Given the description of an element on the screen output the (x, y) to click on. 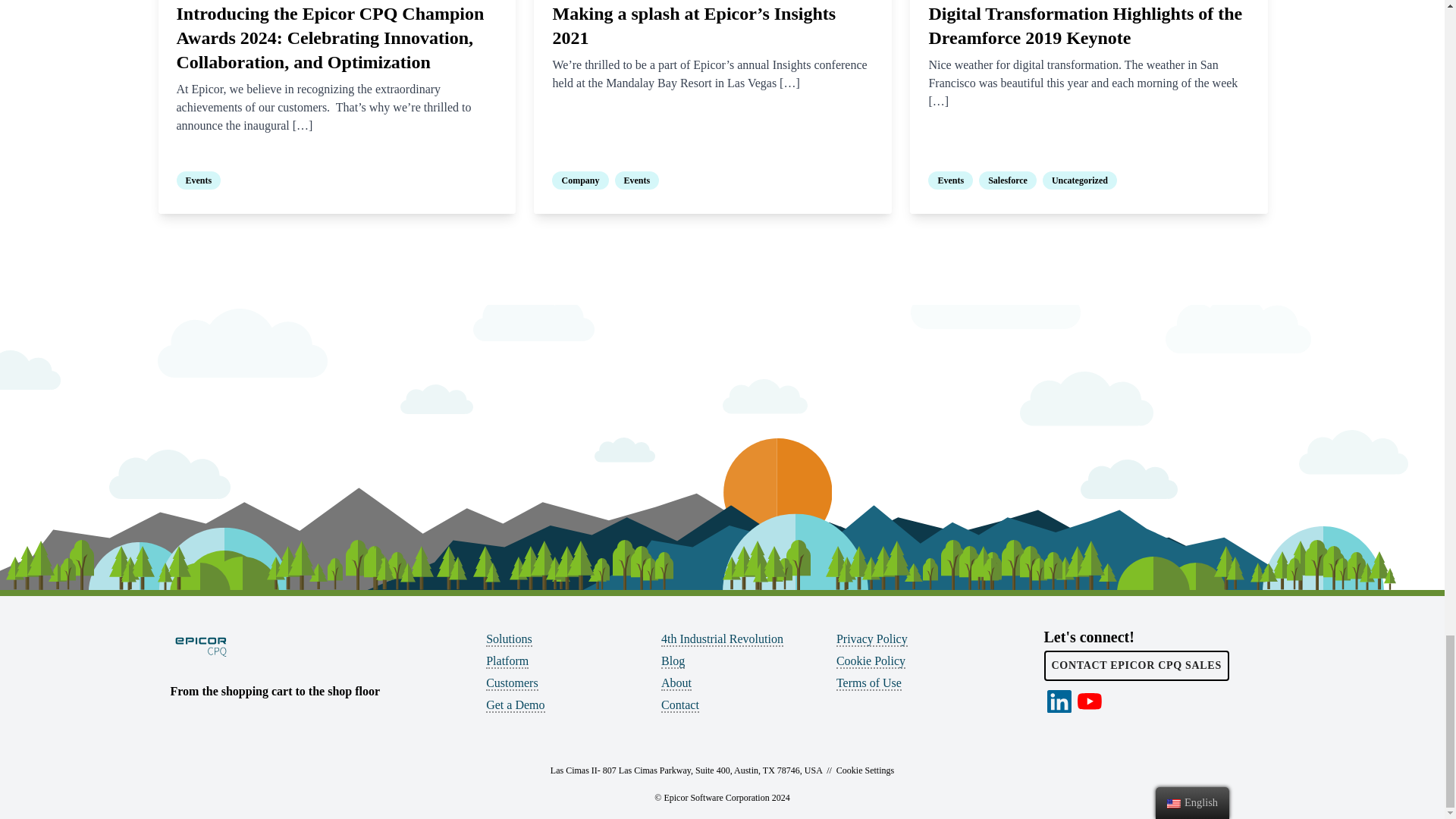
Customers (511, 683)
Solutions (508, 639)
Platform (507, 661)
